Given the description of an element on the screen output the (x, y) to click on. 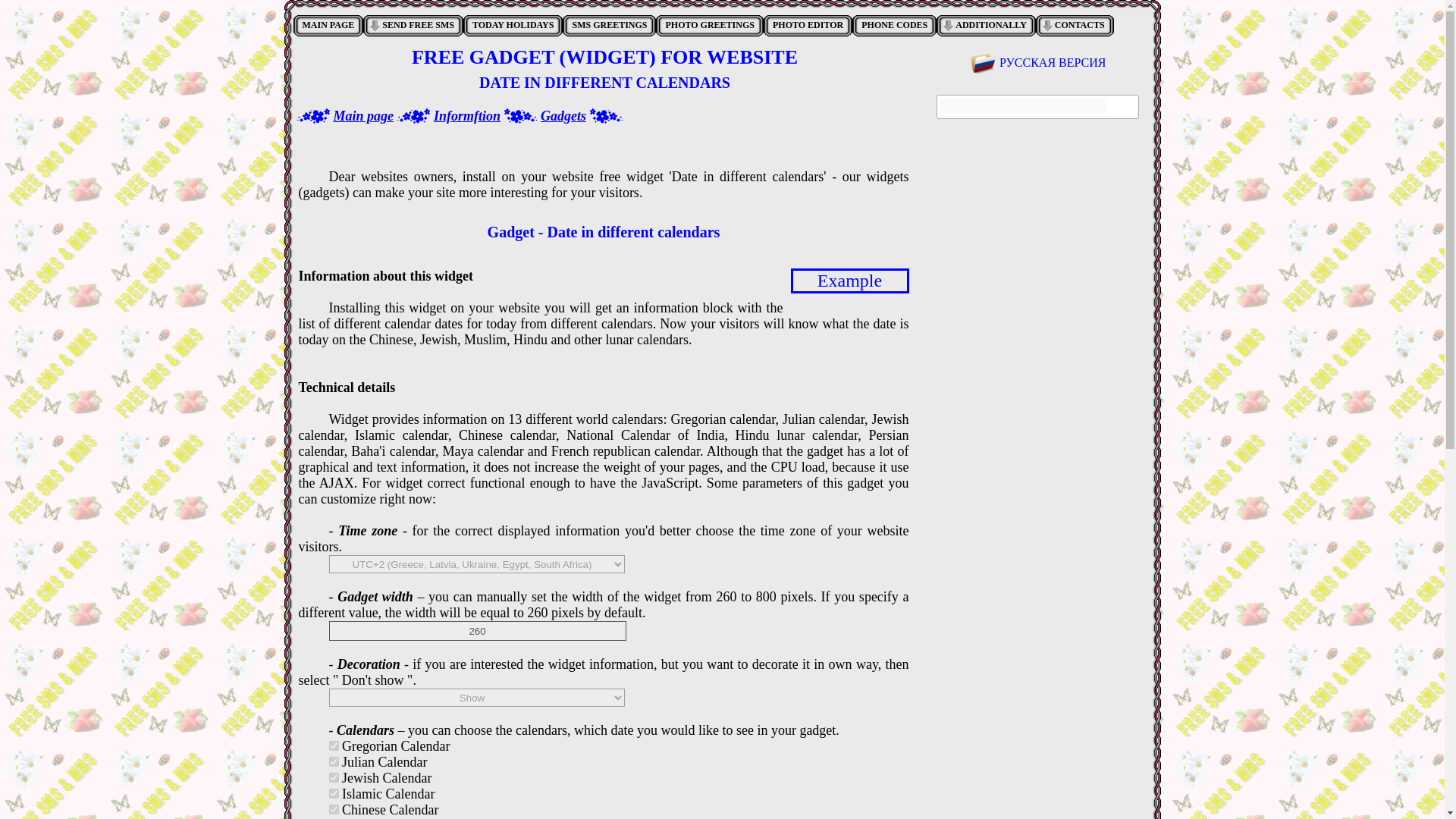
260 (477, 630)
on (334, 761)
Gadgets (563, 115)
Main page (363, 115)
on (334, 777)
on (334, 809)
Informftion (466, 115)
on (334, 793)
on (334, 746)
